Given the description of an element on the screen output the (x, y) to click on. 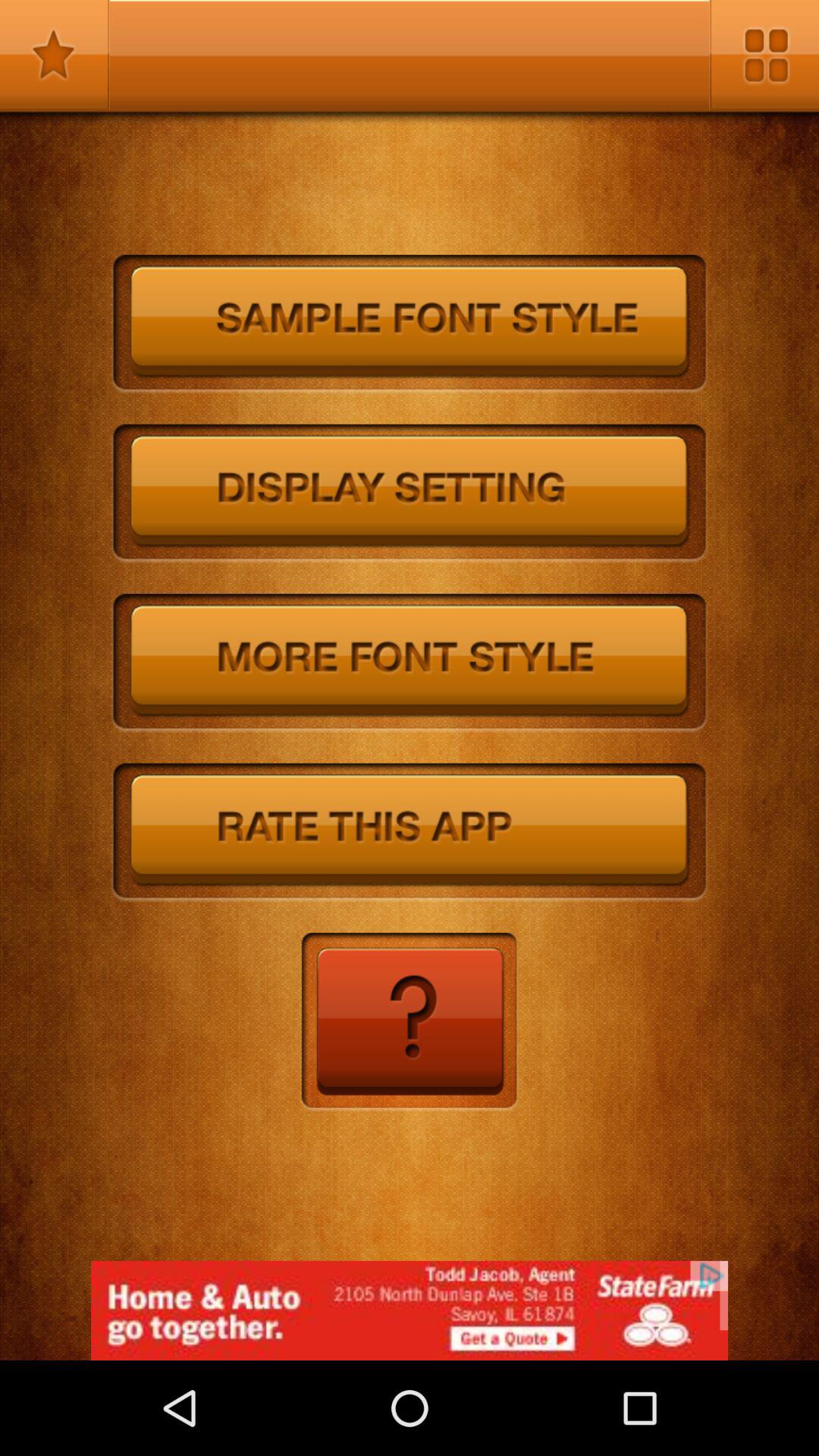
menu list (764, 54)
